Given the description of an element on the screen output the (x, y) to click on. 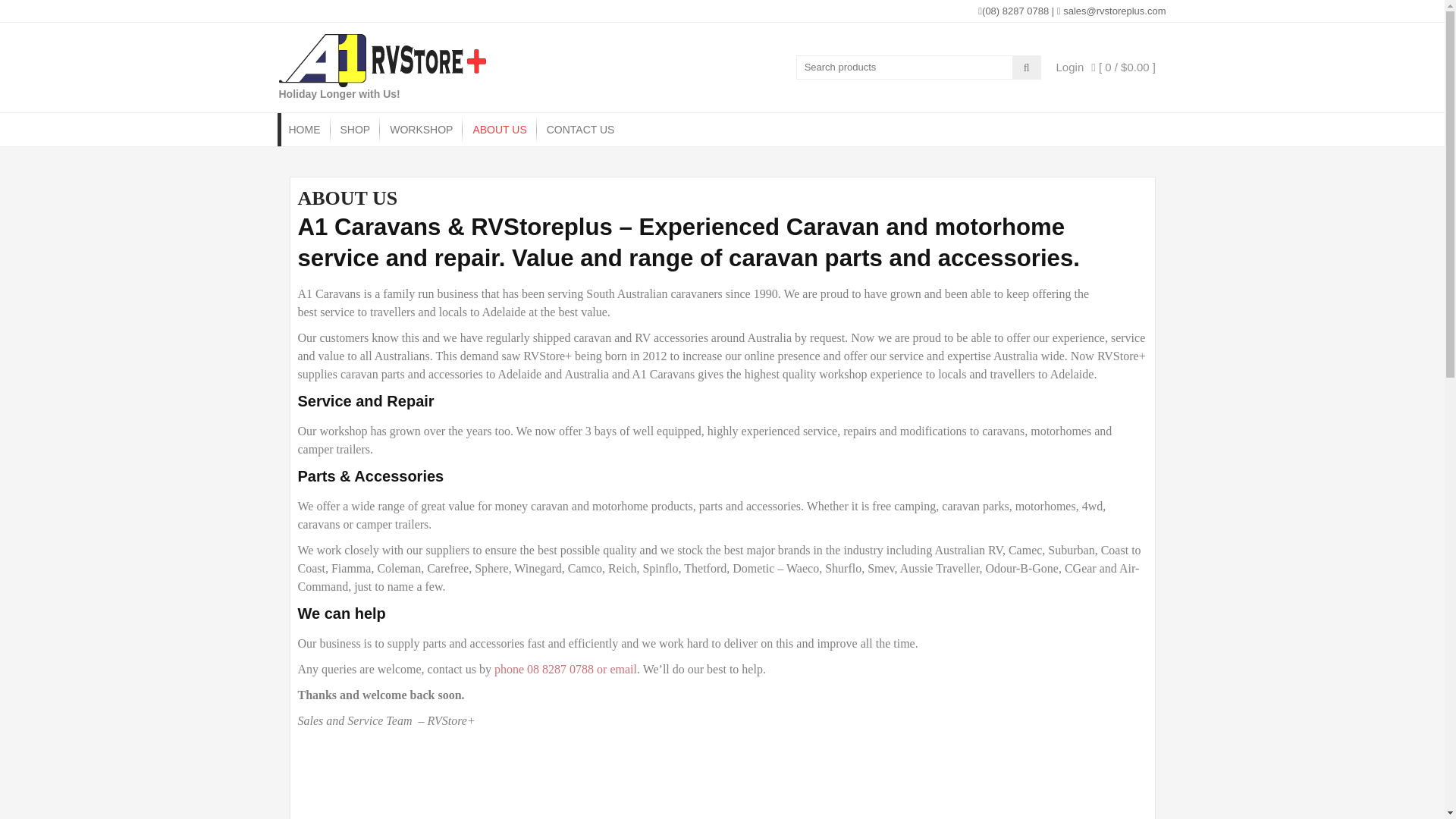
View your shopping cart (1123, 66)
Login (1070, 66)
HOME (304, 129)
Holiday Longer with Us! (339, 93)
ABOUT US (499, 129)
phone 08 8287 0788 or email (566, 668)
WORKSHOP (421, 129)
CONTACT US (580, 129)
SHOP (355, 129)
